Given the description of an element on the screen output the (x, y) to click on. 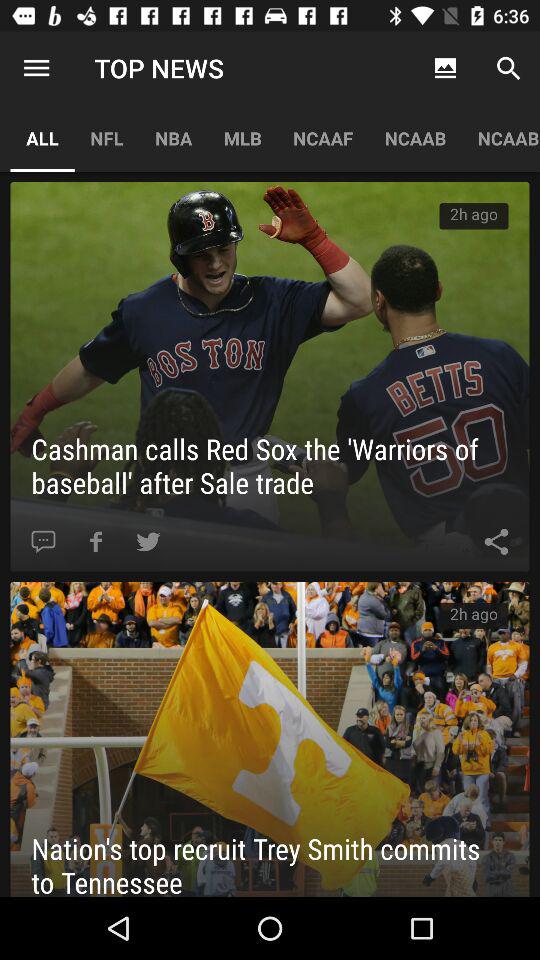
turn off item to the right of the ncaaf (444, 67)
